Given the description of an element on the screen output the (x, y) to click on. 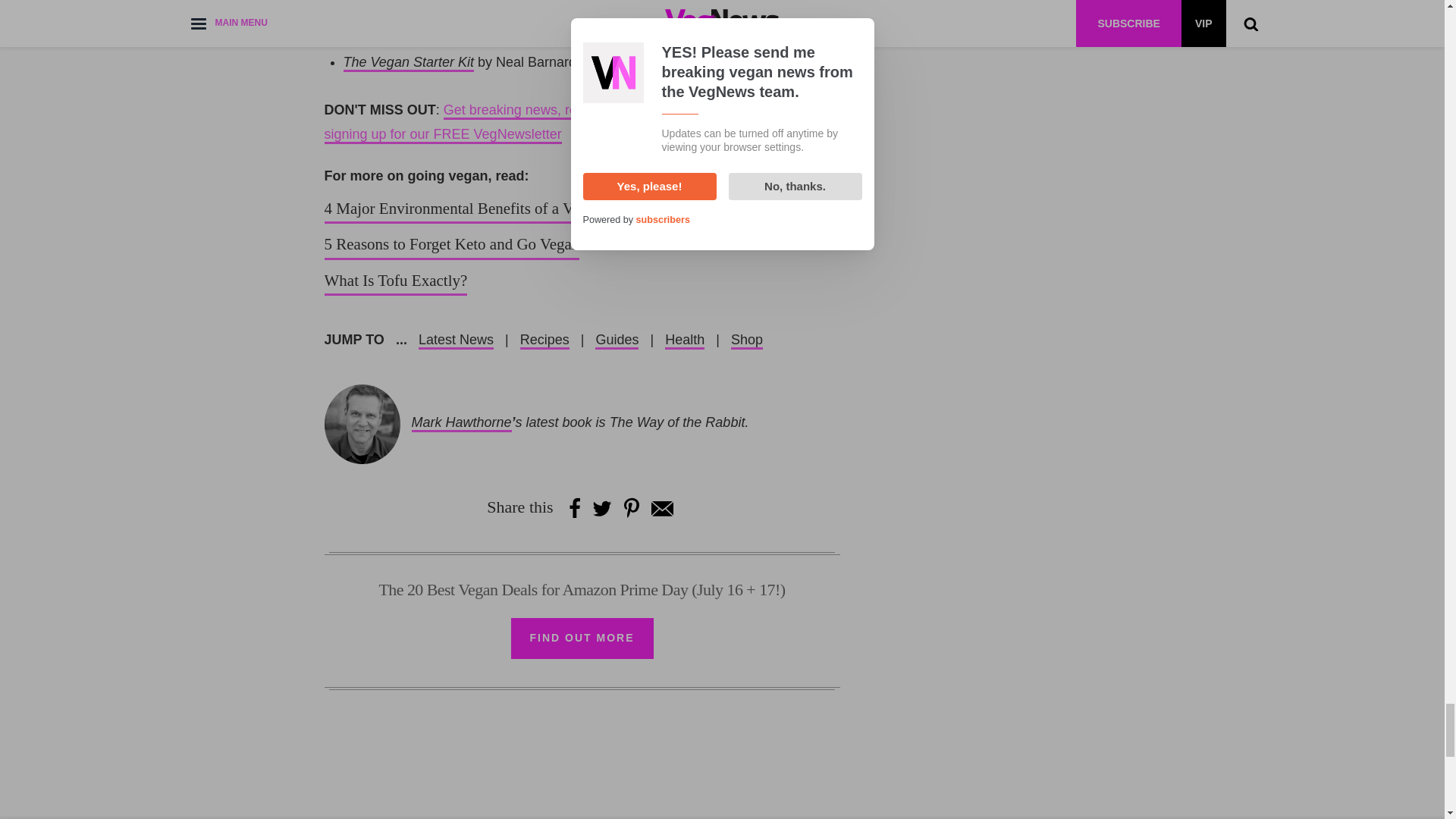
Share article on Twitter (601, 507)
Share article via email (661, 507)
